Given the description of an element on the screen output the (x, y) to click on. 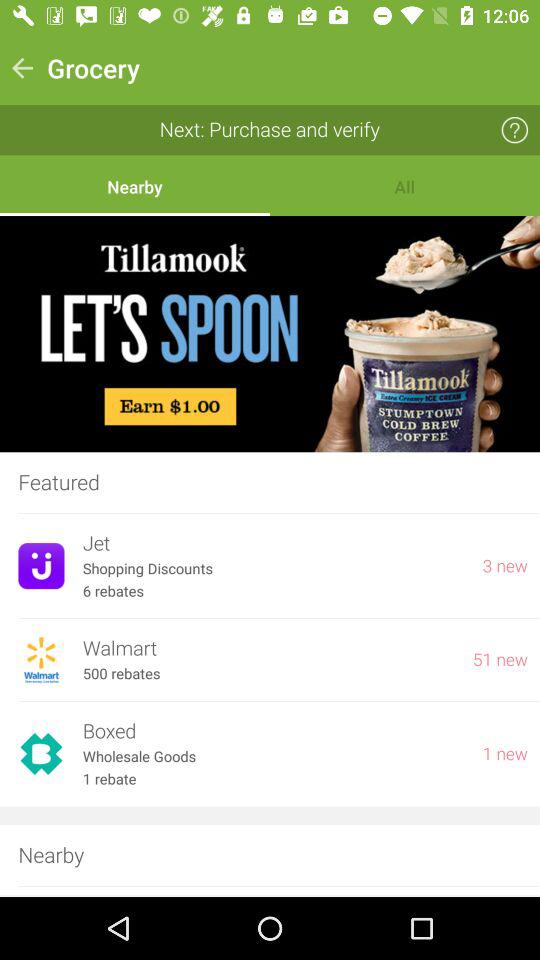
press item to the left of 3 new icon (273, 568)
